Given the description of an element on the screen output the (x, y) to click on. 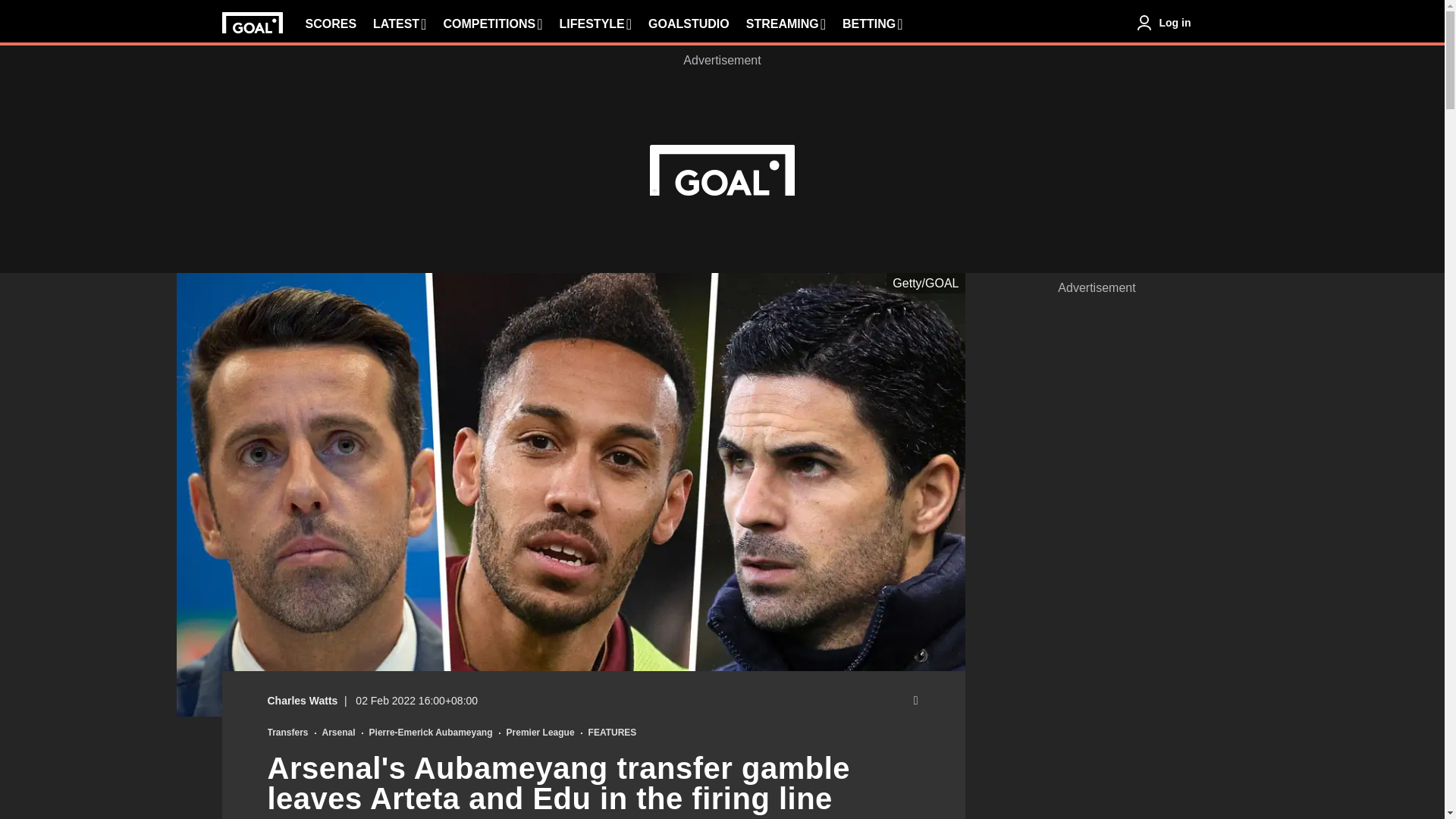
FEATURES (612, 733)
SCORES (330, 23)
COMPETITIONS (491, 23)
Premier League (540, 733)
Transfers (286, 733)
Pierre-Emerick Aubameyang (431, 733)
Arsenal (338, 733)
LATEST (399, 23)
